Given the description of an element on the screen output the (x, y) to click on. 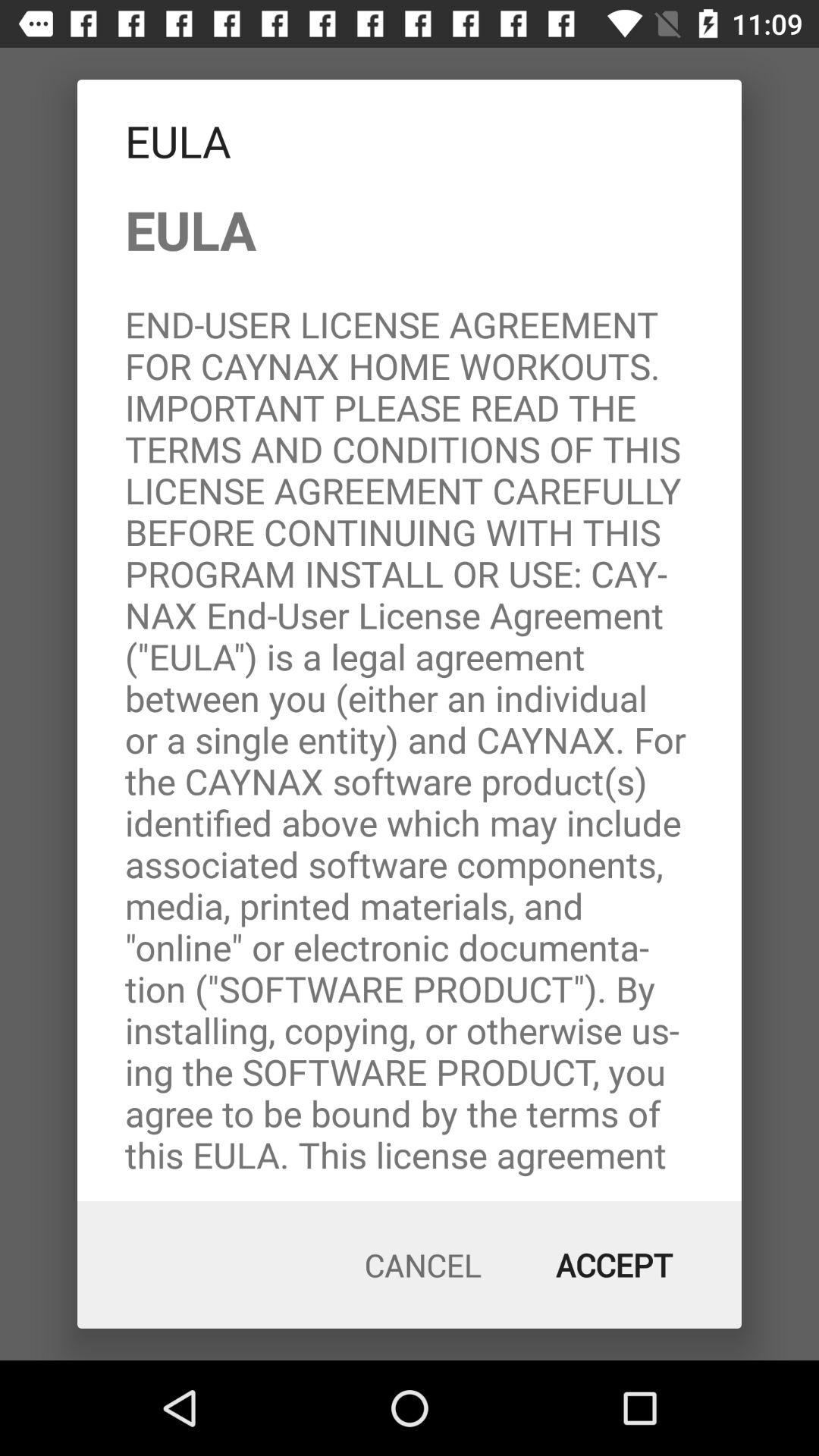
jump until cancel (422, 1264)
